Given the description of an element on the screen output the (x, y) to click on. 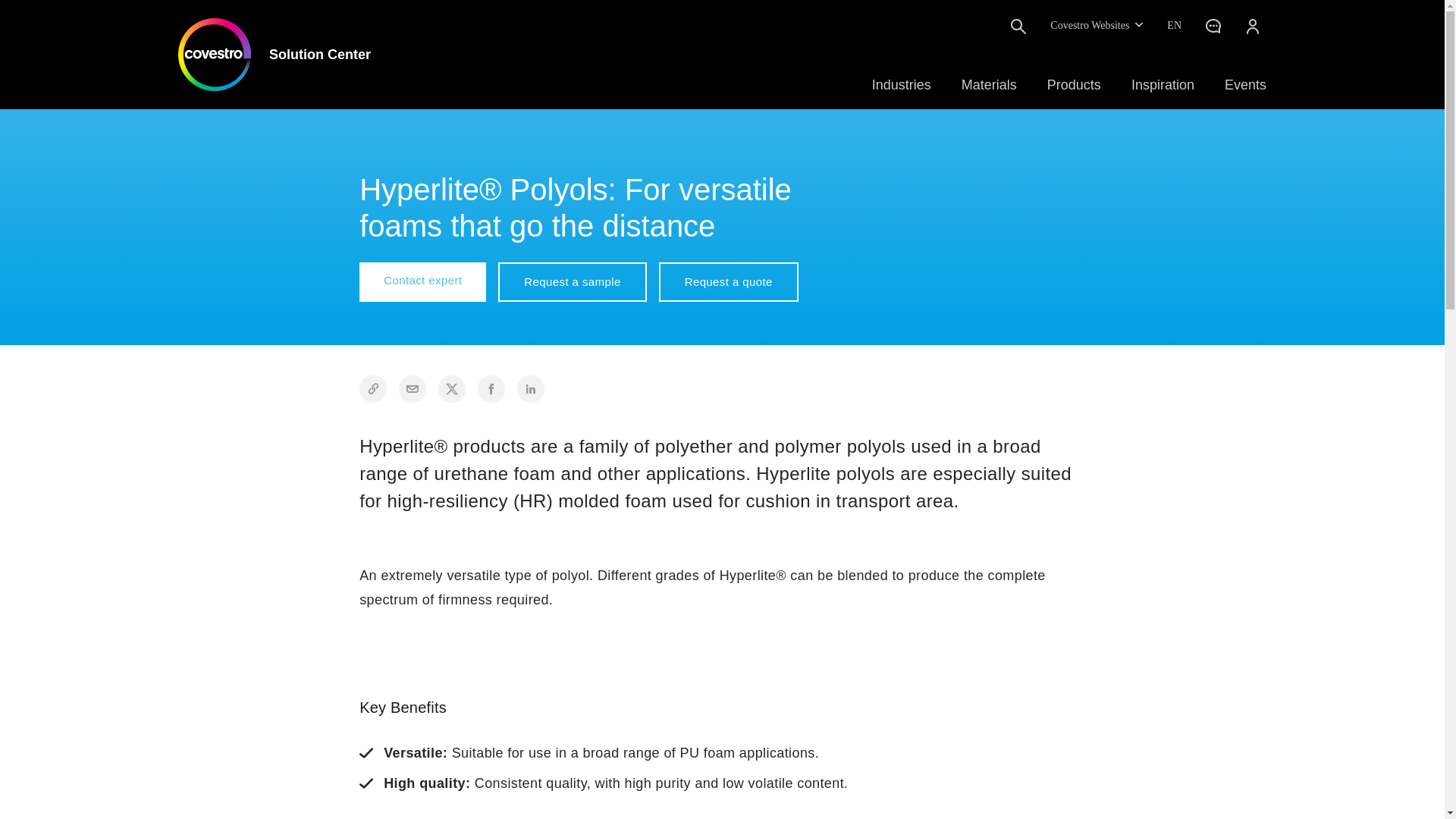
Materials (988, 85)
Solution Center (274, 54)
Industries (901, 85)
Products (1074, 85)
